Given the description of an element on the screen output the (x, y) to click on. 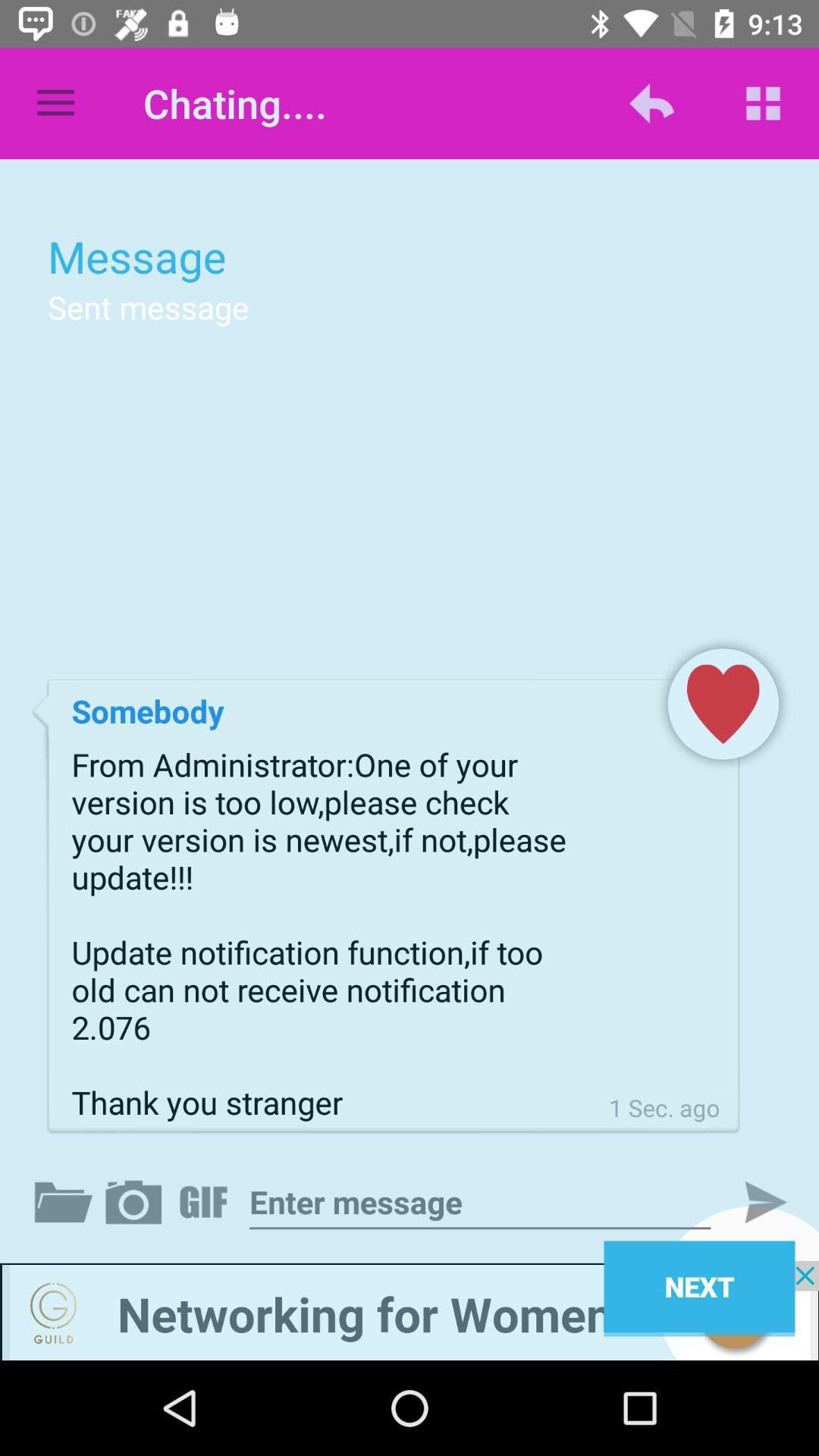
visit advertised website (409, 1310)
